Given the description of an element on the screen output the (x, y) to click on. 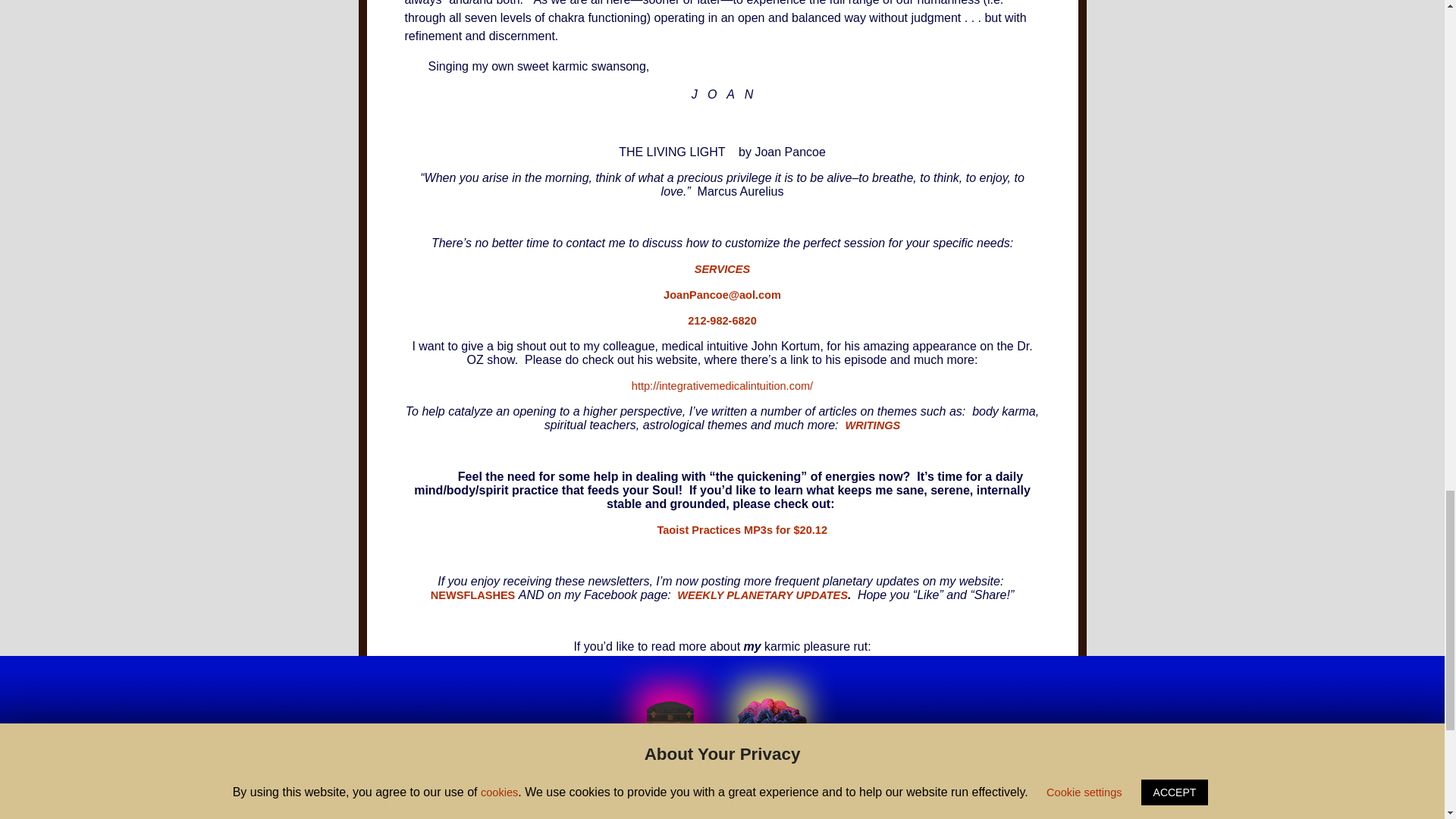
212-982-6820 (722, 320)
Check out the great reviews! (722, 724)
SERVICES (722, 268)
 COSMIC SUGAR: (722, 672)
WRITINGS (871, 425)
The Amorous Adventures of a Modern Mystic (722, 698)
GALLERY OF MULTI-DIMENSIONAL DELIGHTS (721, 801)
WEEKLY PLANETARY UPDATES (760, 594)
NEWSFLASHES (472, 594)
